Given the description of an element on the screen output the (x, y) to click on. 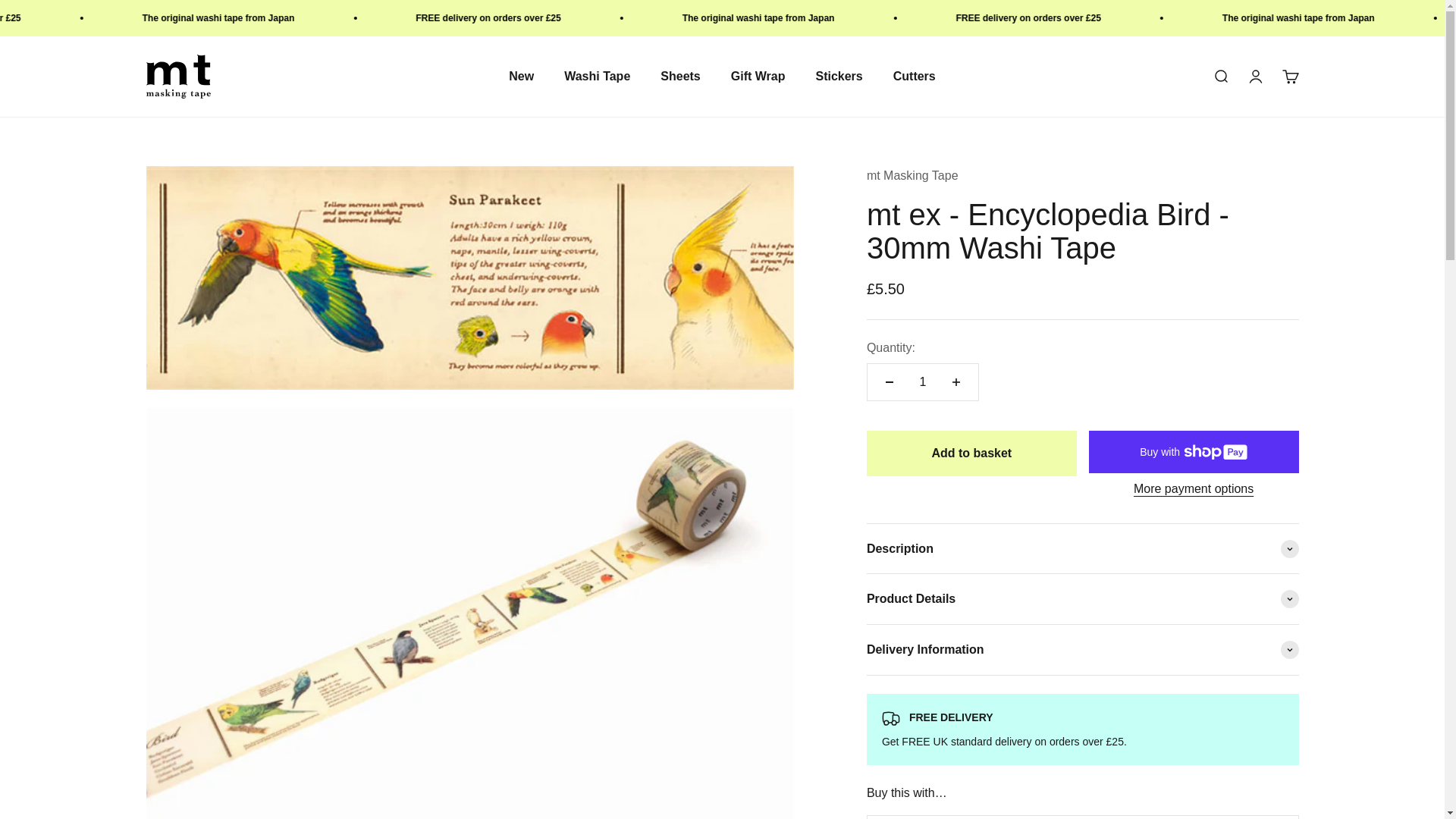
Gift Wrap (758, 75)
mt Masking Tape (177, 76)
Washi Tape (597, 75)
More payment options (1193, 488)
Sheets (680, 75)
New (521, 75)
Open search (1219, 76)
mt Masking Tape (912, 174)
Stickers (838, 75)
Cutters (914, 75)
Add to basket (1289, 76)
1 (971, 452)
Open account page (922, 381)
